Given the description of an element on the screen output the (x, y) to click on. 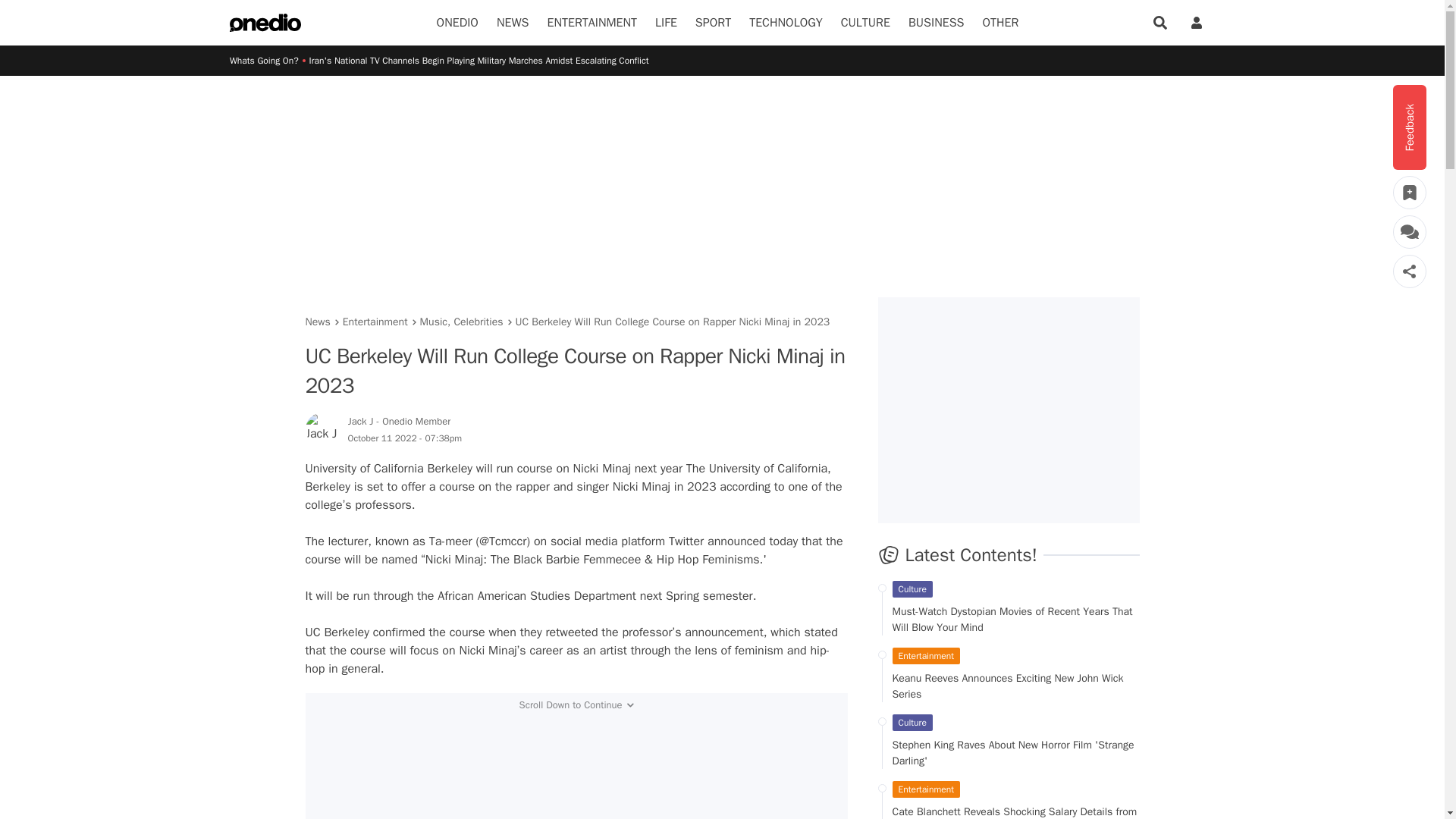
Onedio (457, 22)
NEWS (512, 22)
Ana Sayfa (265, 22)
ONEDIO (457, 22)
ENTERTAINMENT (591, 22)
SPORT (712, 22)
Entertainment (591, 22)
News (512, 22)
